Given the description of an element on the screen output the (x, y) to click on. 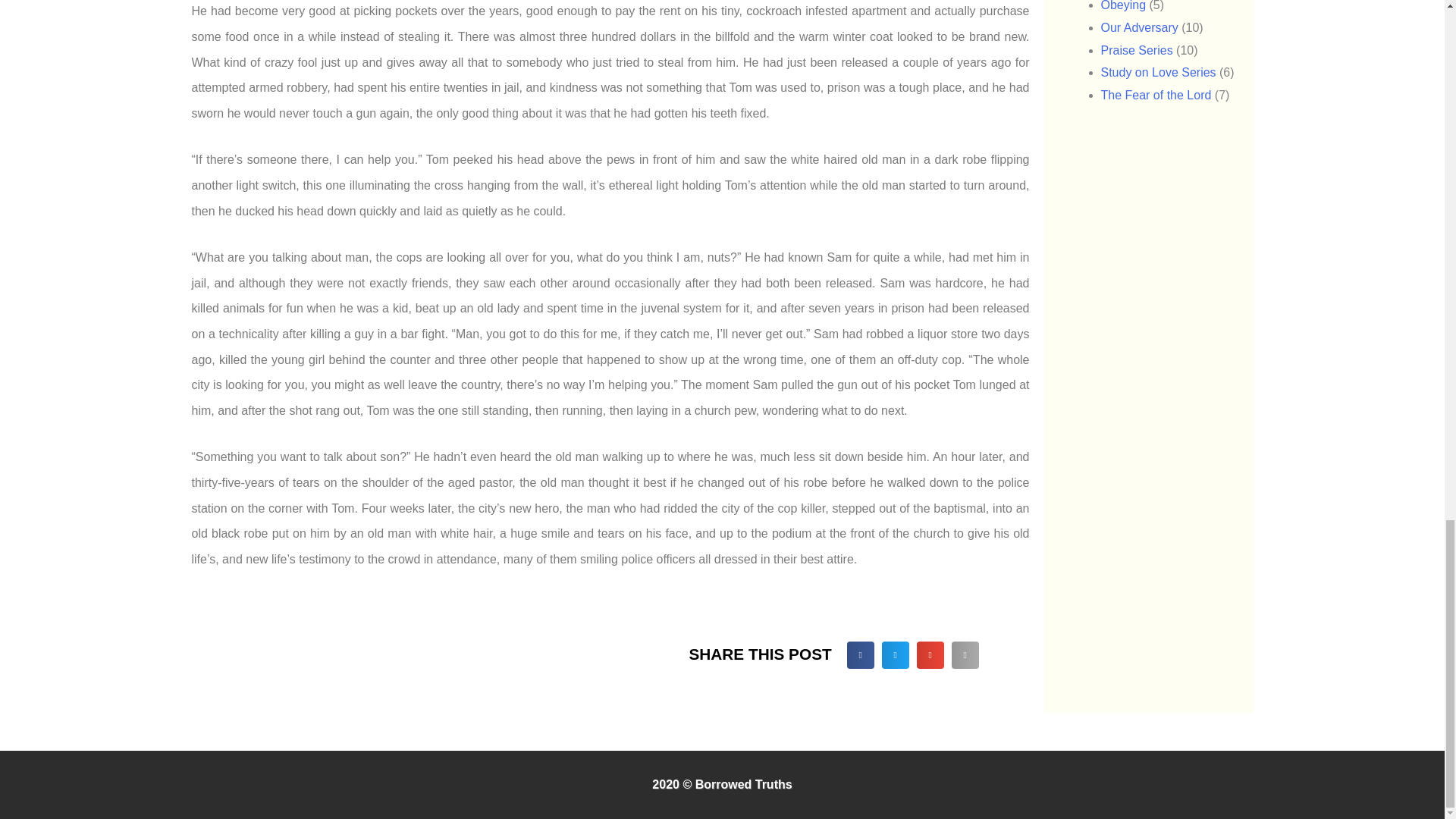
Obeying (1123, 5)
The Fear of the Lord (1155, 94)
Our Adversary (1138, 27)
Study on Love Series (1157, 72)
Praise Series (1136, 50)
